Given the description of an element on the screen output the (x, y) to click on. 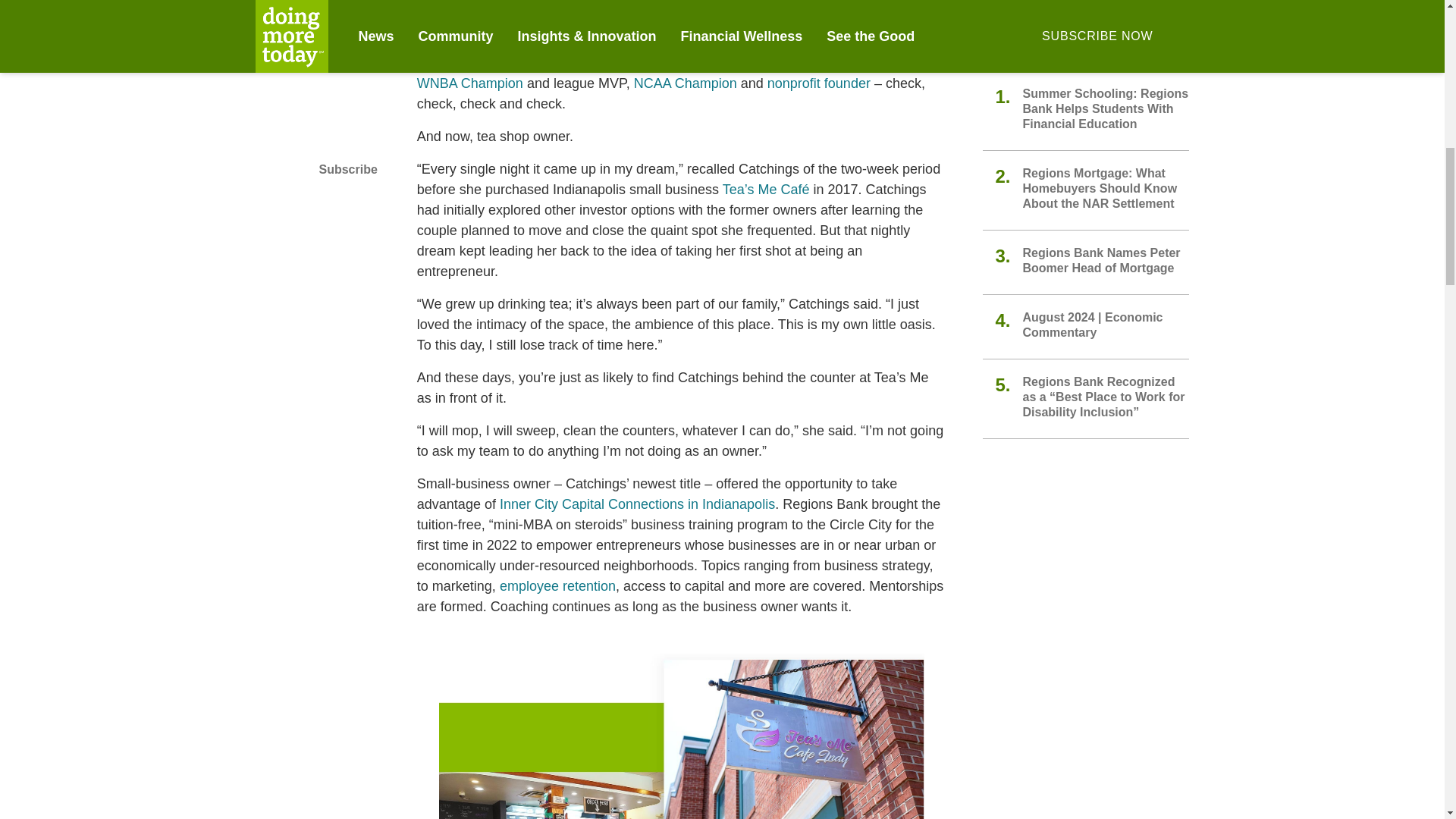
nonprofit founder (818, 83)
Inner City Capital Connections in Indianapolis (636, 504)
employee retention (557, 586)
NCAA Champion (684, 83)
WNBA Champion (469, 83)
